Given the description of an element on the screen output the (x, y) to click on. 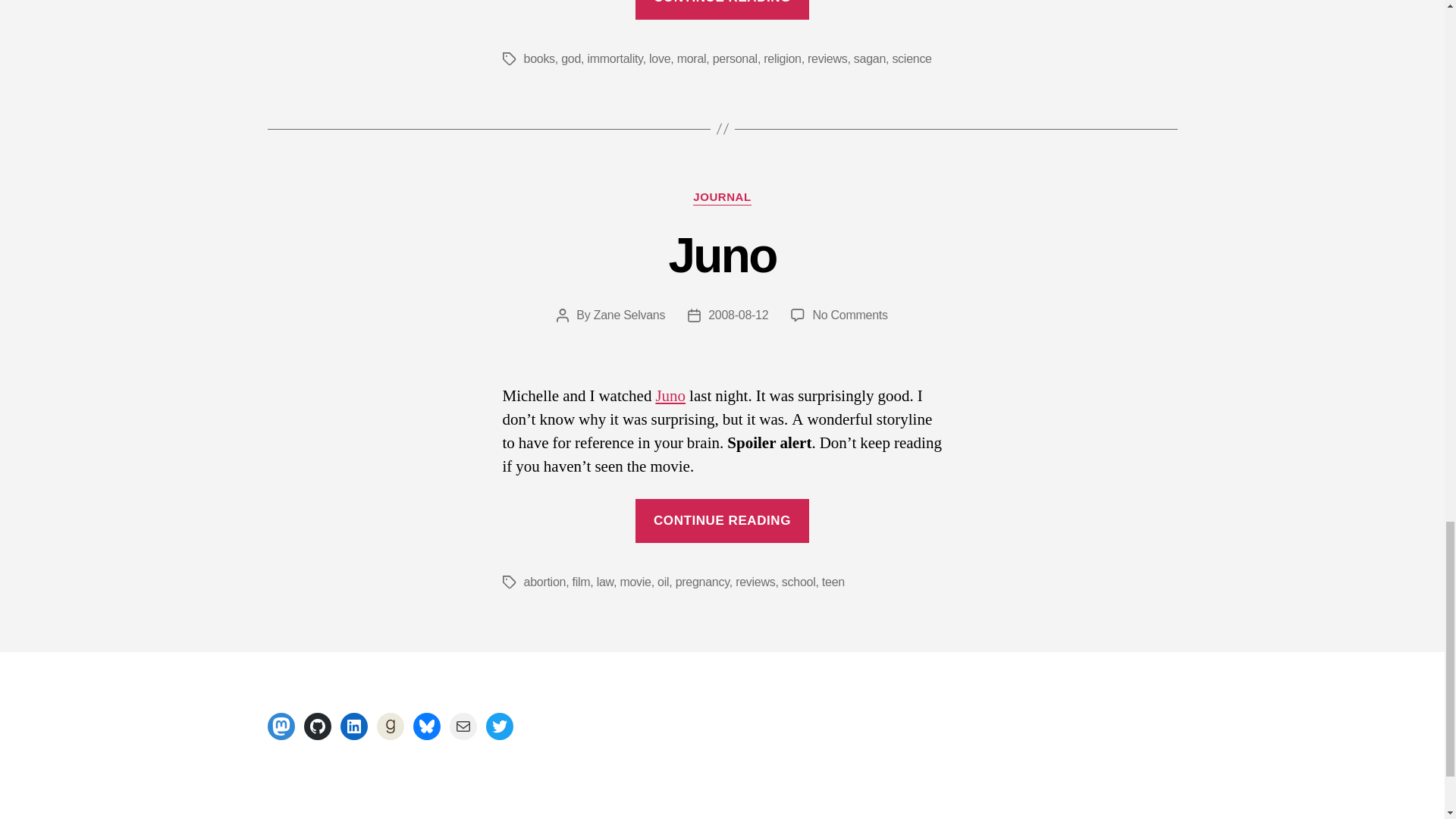
immortality (614, 58)
moral (691, 58)
books (538, 58)
god (570, 58)
love (659, 58)
